Given the description of an element on the screen output the (x, y) to click on. 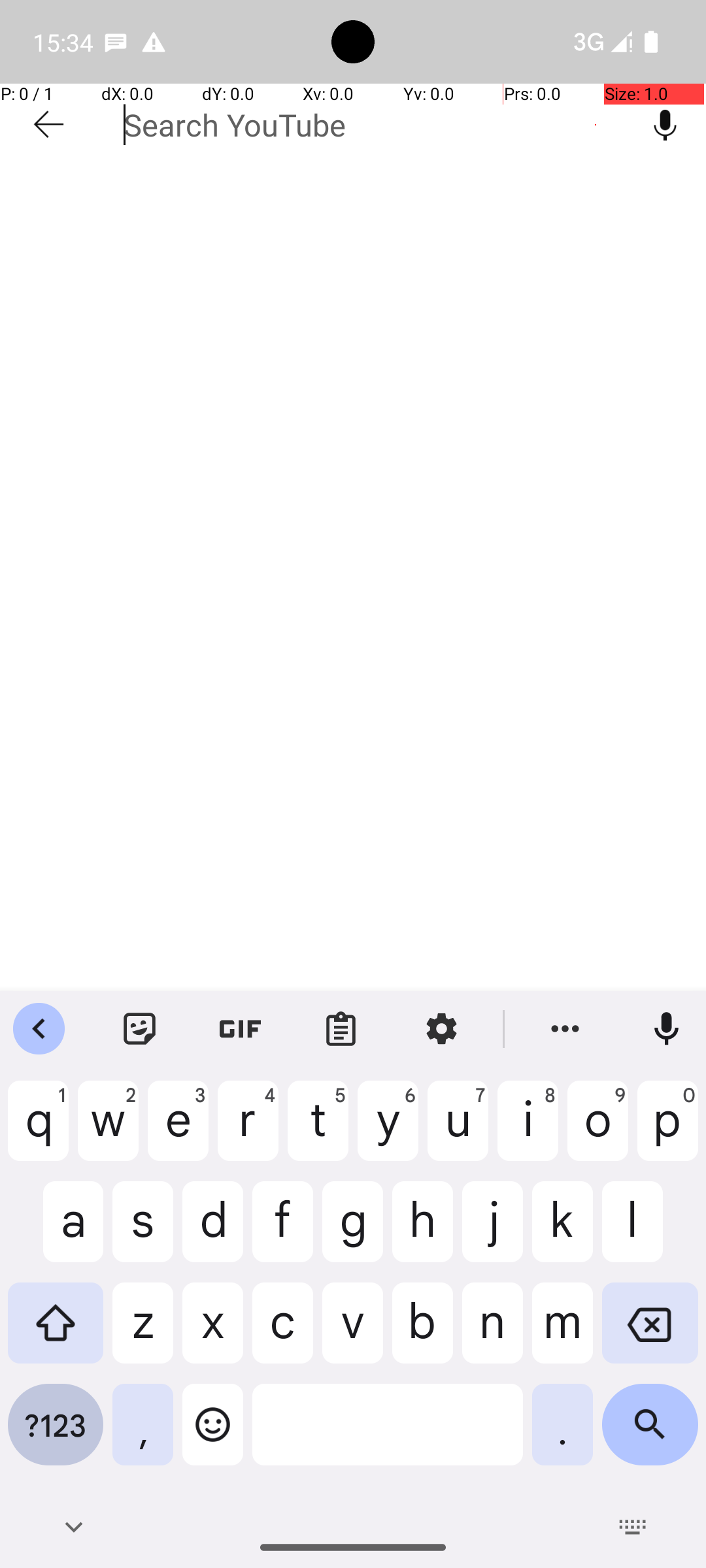
Search YouTube Element type: android.widget.EditText (373, 124)
